Given the description of an element on the screen output the (x, y) to click on. 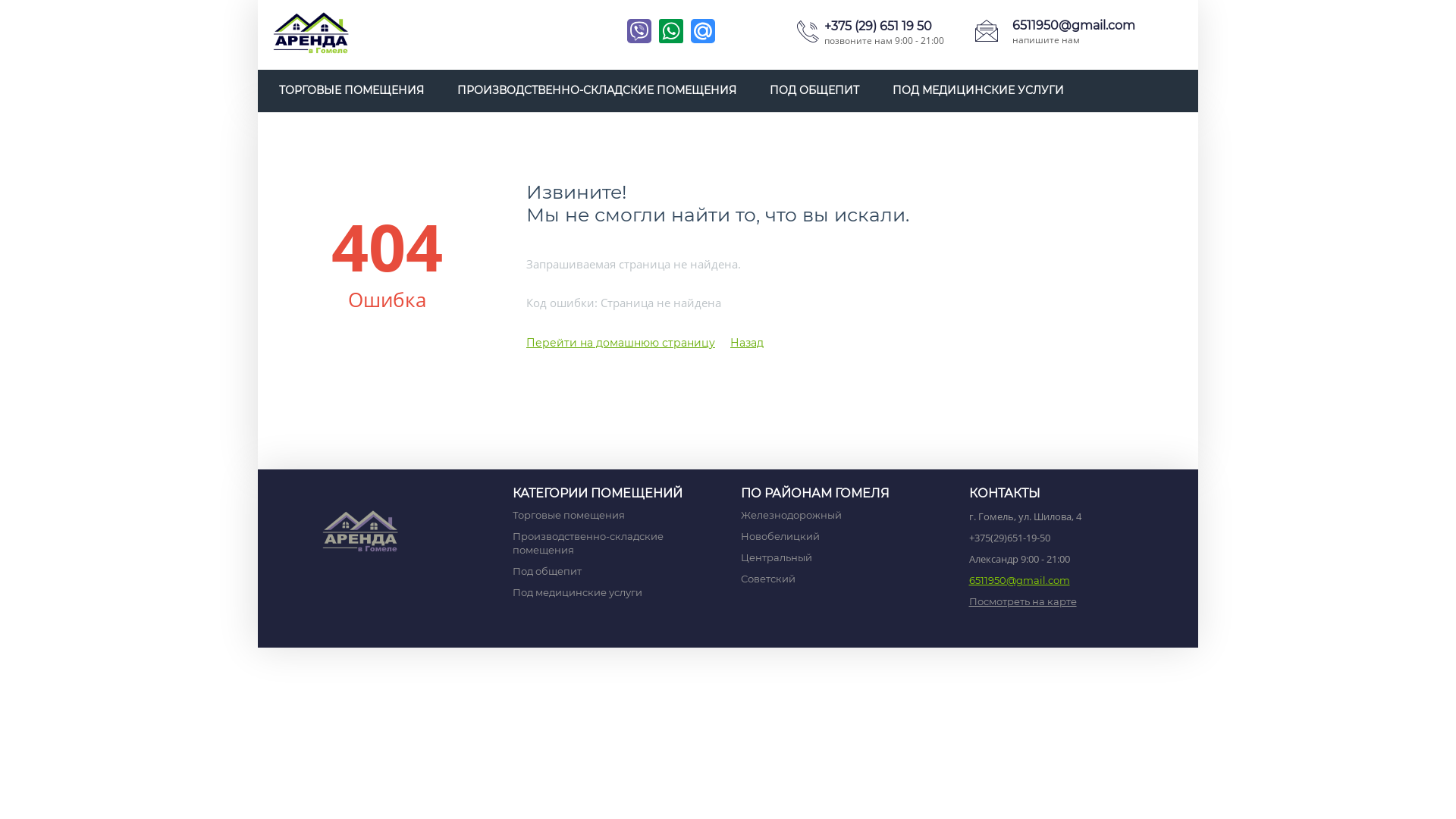
6511950@gmail.com Element type: text (1073, 25)
6511950@gmail.com Element type: text (1019, 580)
+375 (29) 651 19 50 Element type: text (877, 25)
